Given the description of an element on the screen output the (x, y) to click on. 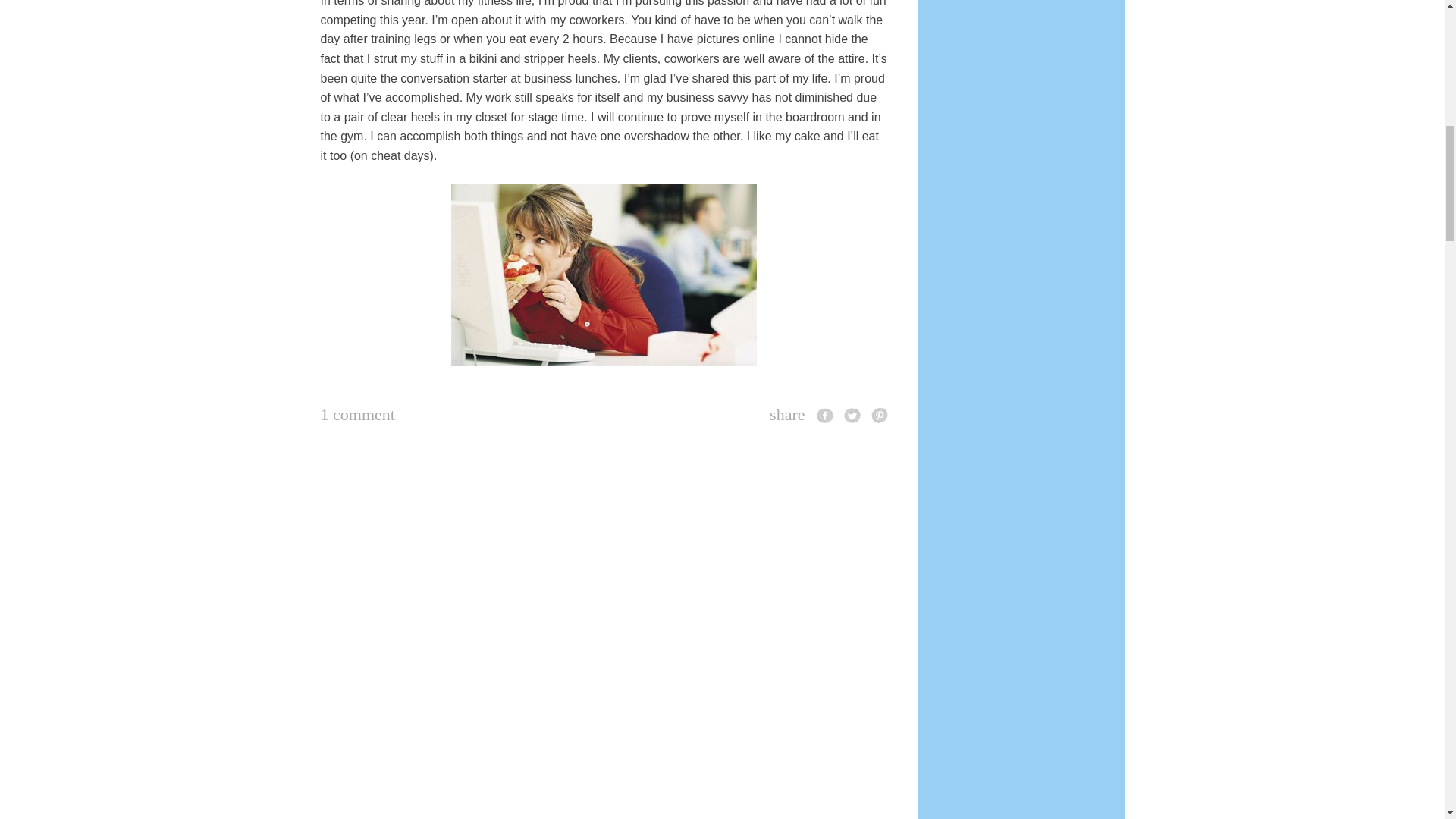
dv762016 (604, 275)
